Given the description of an element on the screen output the (x, y) to click on. 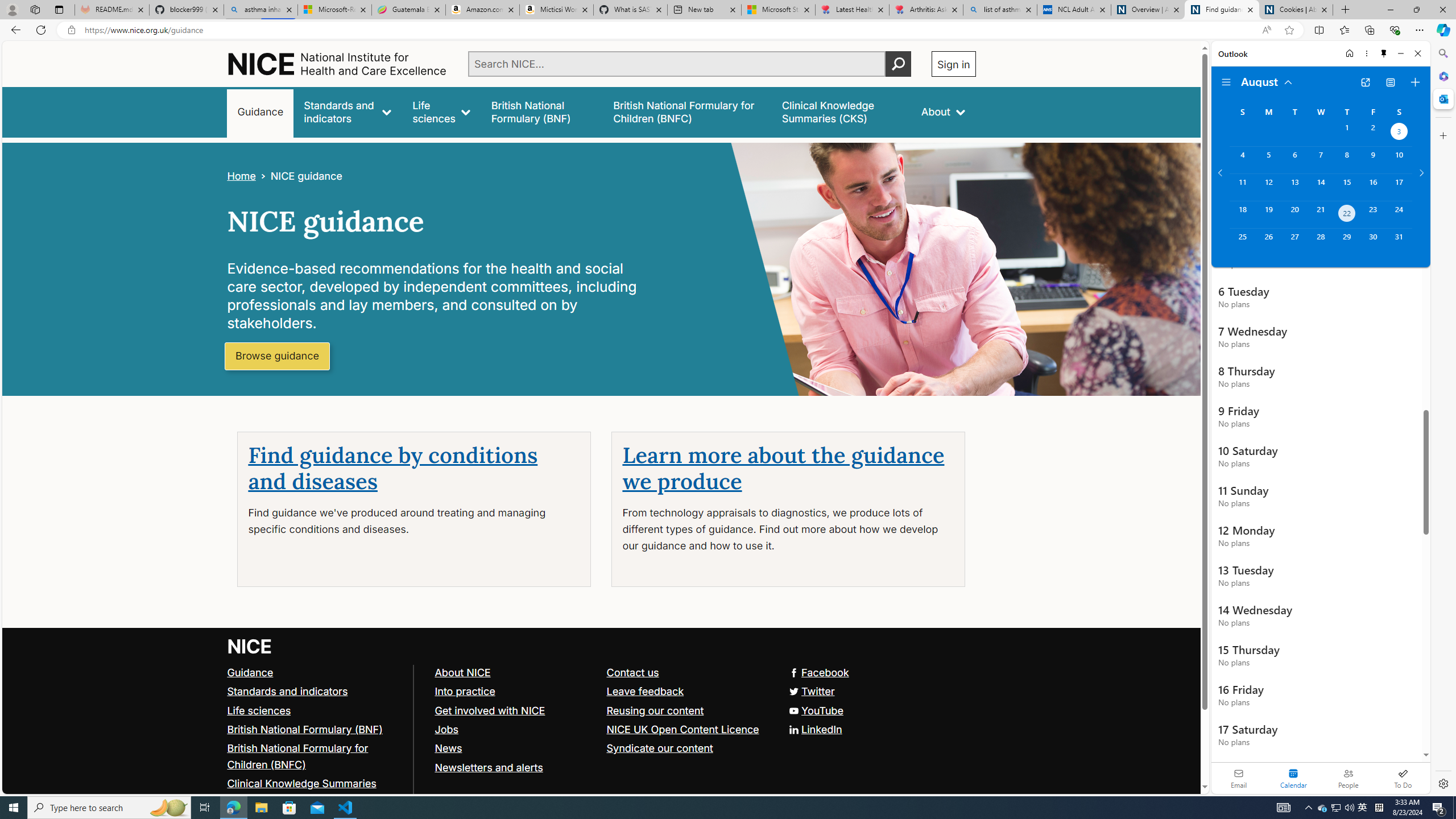
News (448, 748)
People (1347, 777)
Arthritis: Ask Health Professionals (925, 9)
Copilot (Ctrl+Shift+.) (1442, 29)
Wednesday, August 21, 2024.  (1320, 214)
Syndicate our content (686, 747)
Tab actions menu (58, 9)
Twitter (810, 690)
Contact us (686, 672)
Home (241, 176)
Friday, August 2, 2024.  (1372, 132)
Refresh (40, 29)
Settings and more (Alt+F) (1419, 29)
Friday, August 30, 2024.  (1372, 241)
